Given the description of an element on the screen output the (x, y) to click on. 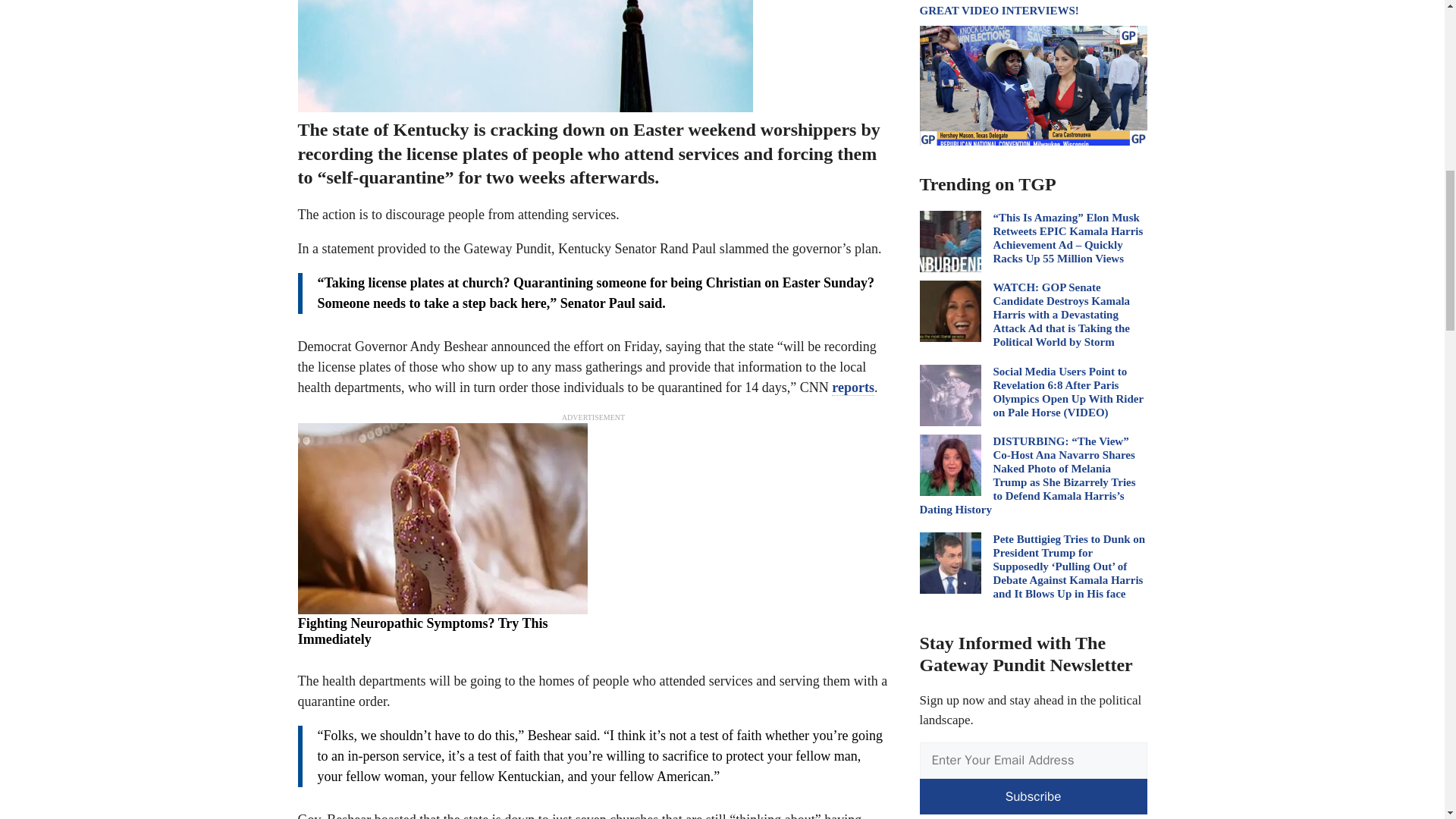
Subscribe (1032, 796)
